Given the description of an element on the screen output the (x, y) to click on. 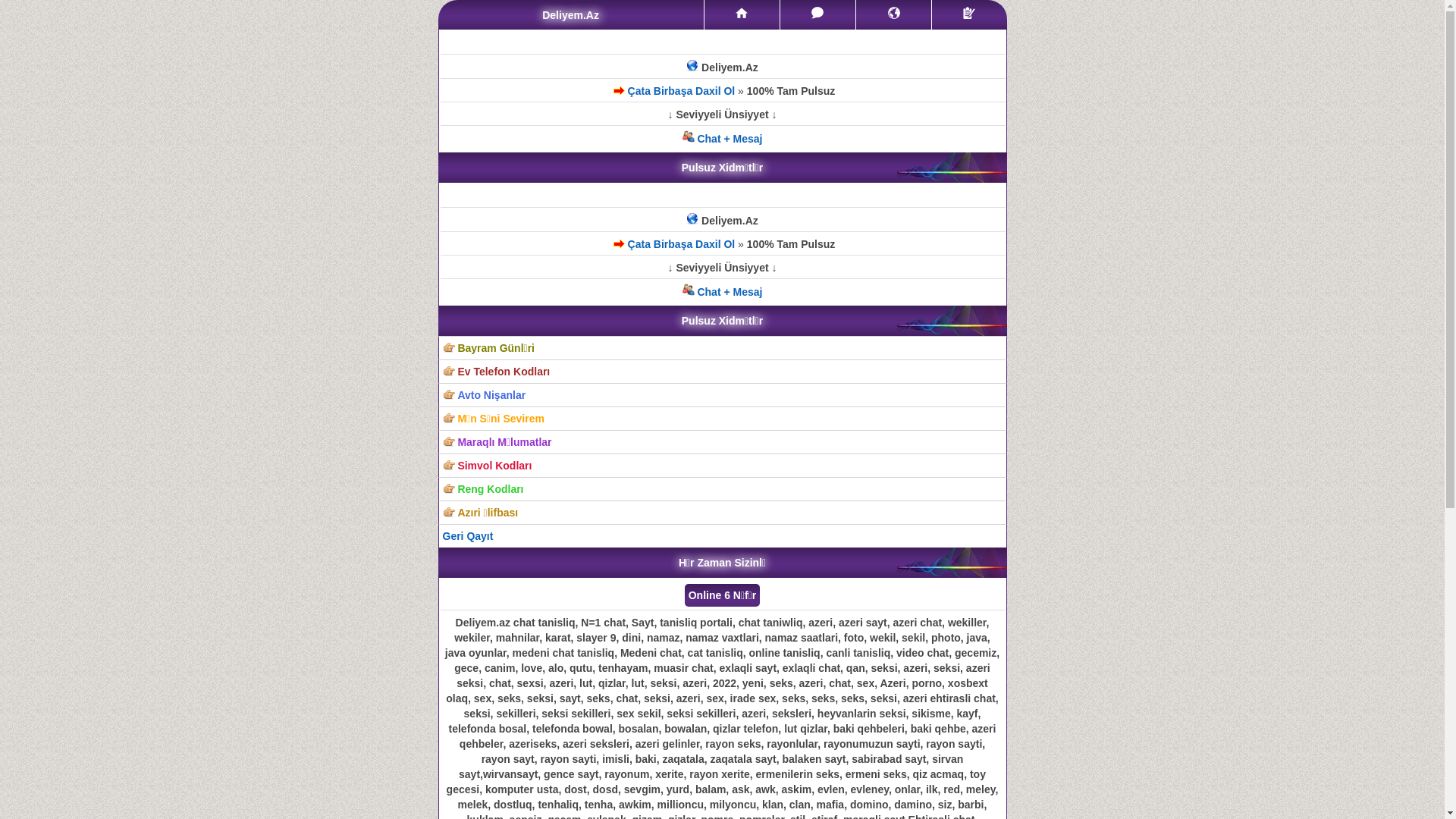
Chat + Mesaj Element type: text (722, 138)
Bildirisler Element type: hover (894, 12)
Mesajlar Element type: hover (817, 14)
Chat + Mesaj Element type: text (722, 291)
Bildirisler Element type: hover (893, 14)
Mesajlar Element type: hover (817, 12)
Qeydiyyat Element type: hover (968, 14)
Qeydiyyat Element type: hover (969, 12)
